Given the description of an element on the screen output the (x, y) to click on. 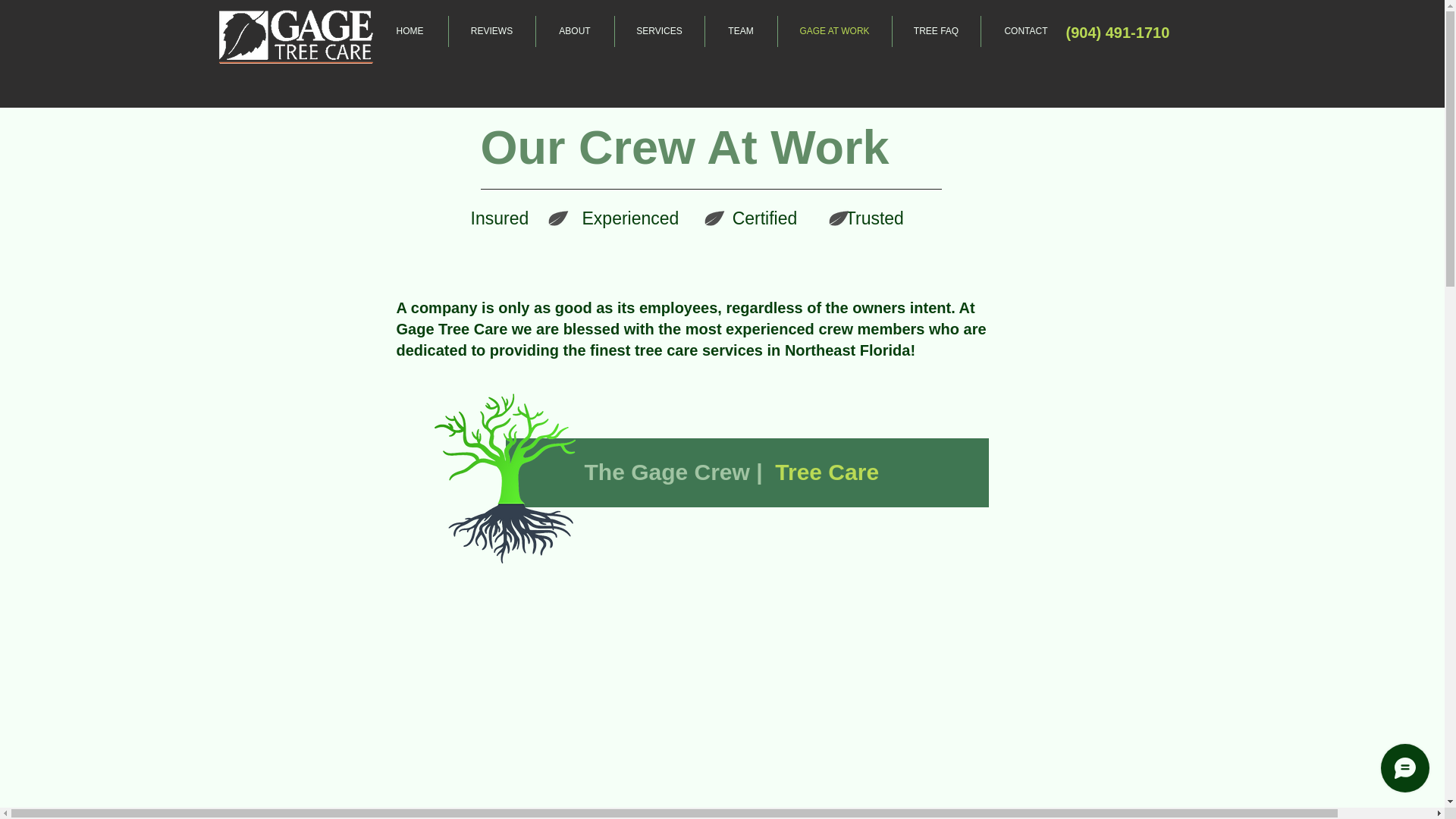
ABOUT (573, 30)
TREE FAQ (935, 30)
Wix Chat (1408, 771)
TEAM (740, 30)
CONTACT (1026, 30)
SERVICES (658, 30)
HOME (408, 30)
GAGE AT WORK (834, 30)
REVIEWS (491, 30)
